Given the description of an element on the screen output the (x, y) to click on. 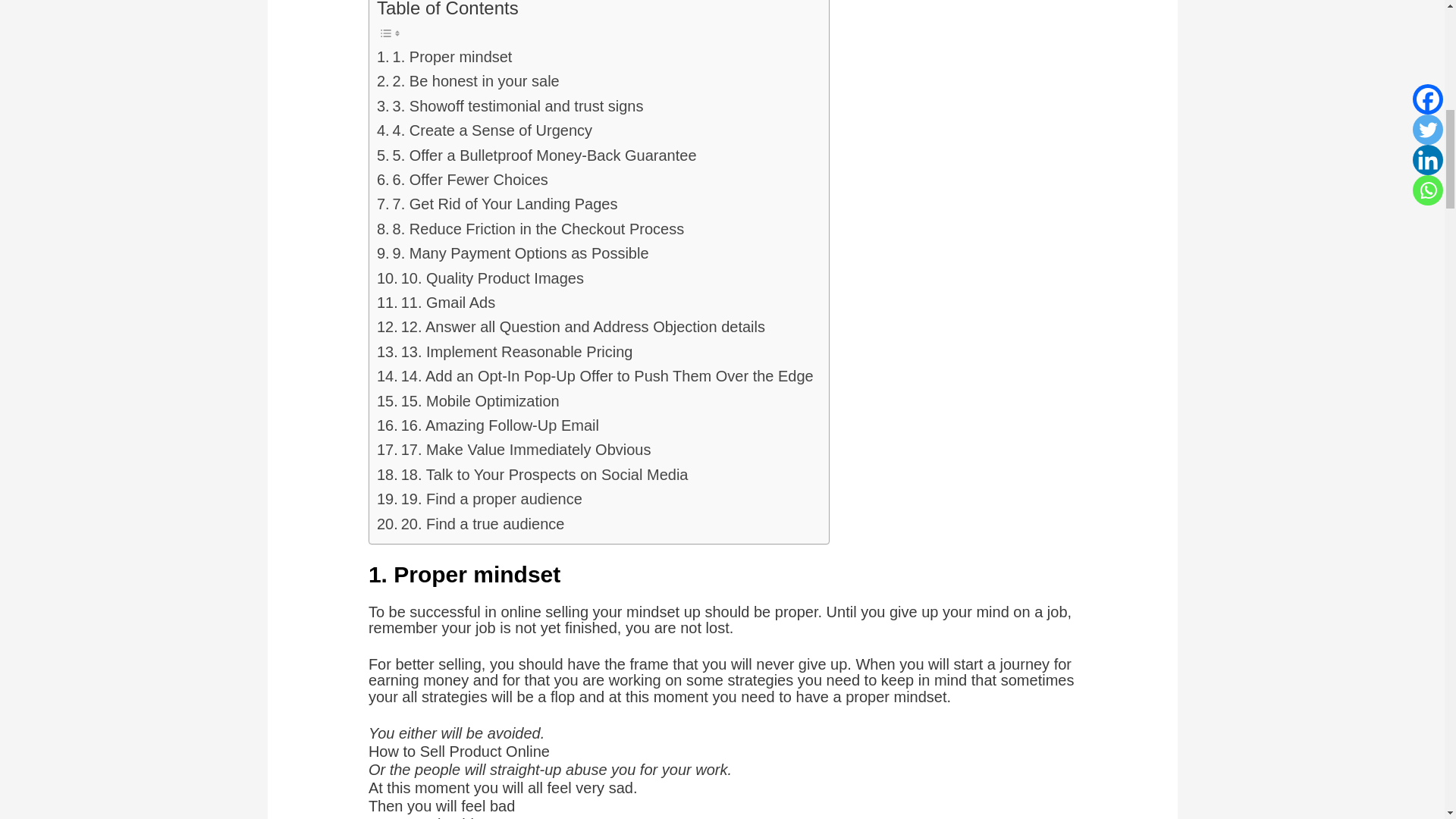
2. Be honest in your sale (468, 80)
3. Showoff testimonial and trust signs (510, 105)
14. Add an Opt-In Pop-Up Offer to Push Them Over the Edge (595, 375)
11. Gmail Ads (436, 302)
17. Make Value Immediately Obvious (513, 449)
5. Offer a Bulletproof Money-Back Guarantee (537, 155)
7. Get Rid of Your Landing Pages (497, 203)
18. Talk to Your Prospects on Social Media (532, 474)
12. Answer all Question and Address Objection details (571, 326)
4. Create a Sense of Urgency (484, 129)
